Given the description of an element on the screen output the (x, y) to click on. 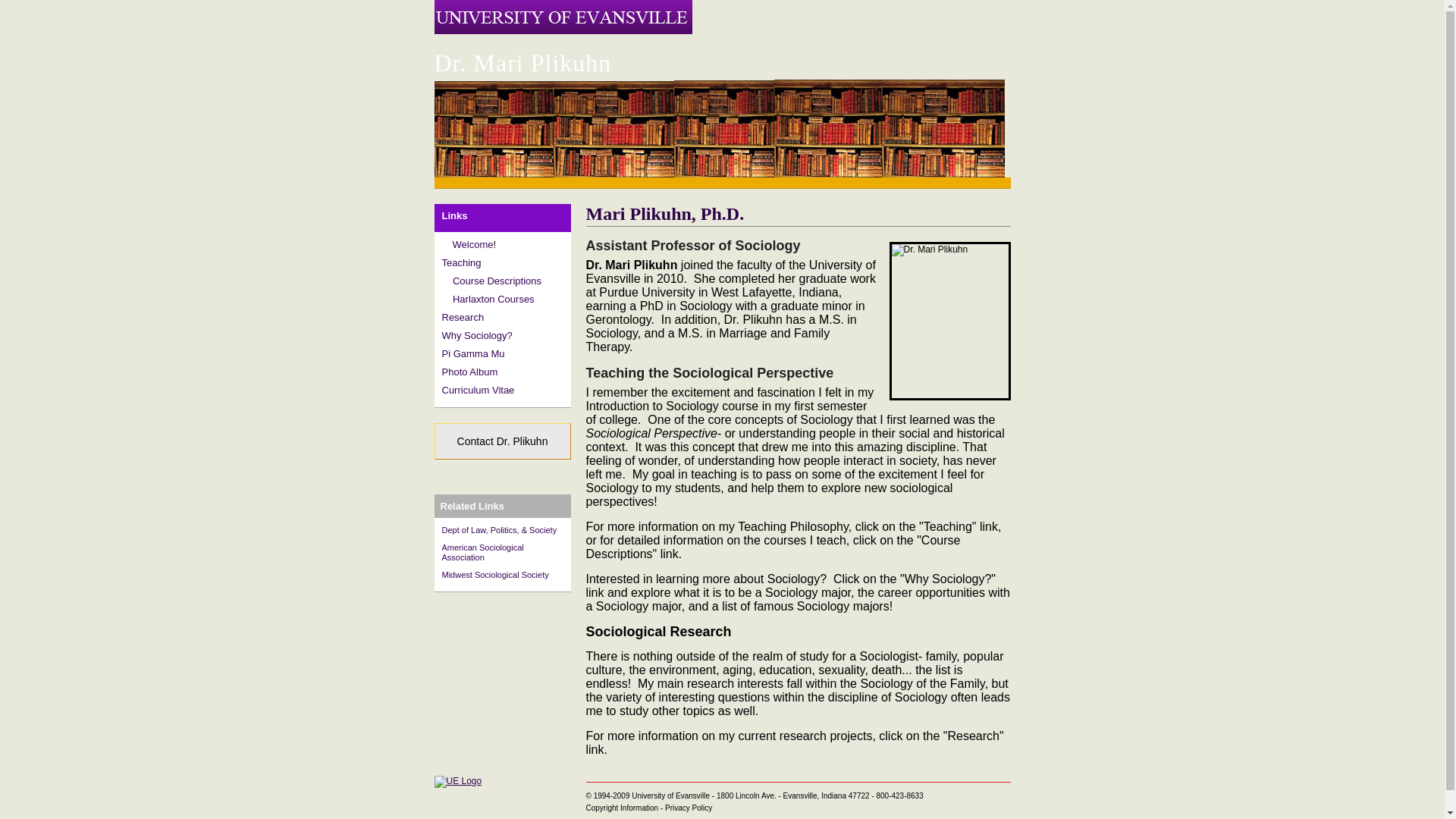
Why Sociology? (476, 335)
University of Evansville (457, 780)
W (451, 244)
P (444, 353)
Photo Album (469, 371)
Midwest Sociological Society (494, 574)
elcome (477, 244)
Contact Dr. Plikuhn (501, 441)
Teaching (460, 262)
American Sociological Association (481, 551)
Harlaxton Courses (493, 298)
Introduction (451, 244)
Curriculum Vitae (477, 389)
Course Descriptions (496, 280)
i Gamma Mu (475, 353)
